Given the description of an element on the screen output the (x, y) to click on. 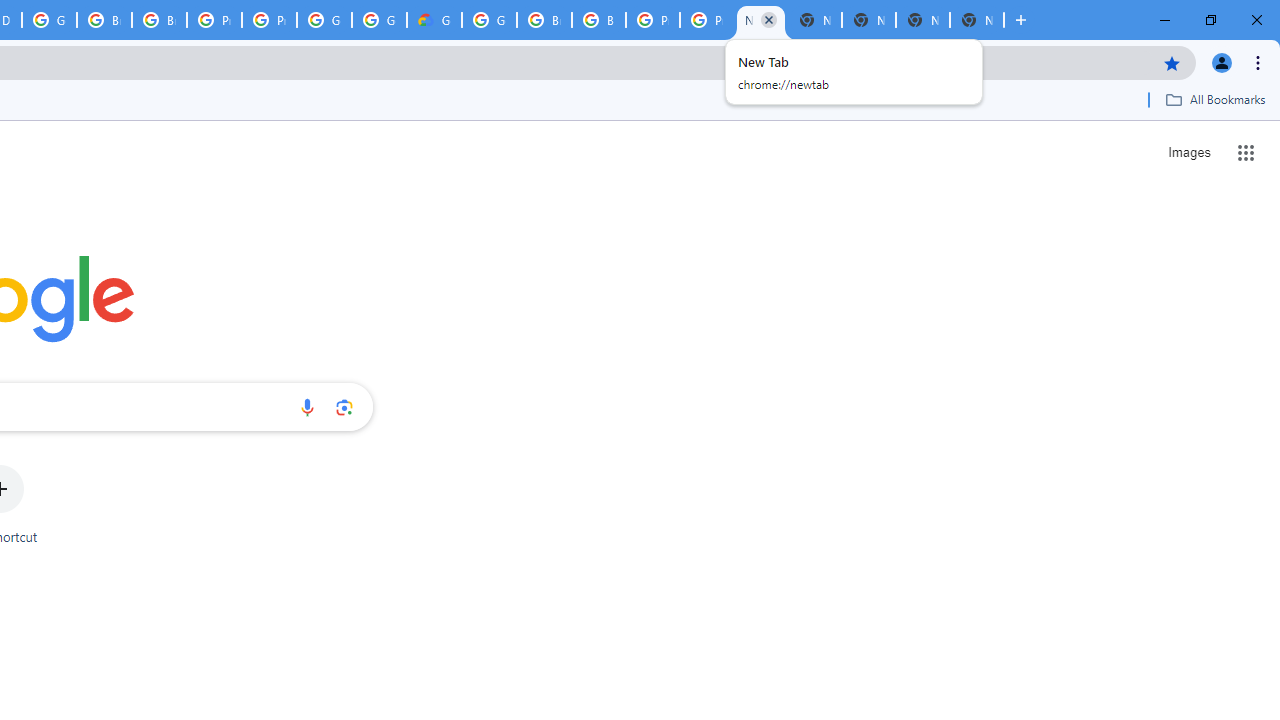
Google Cloud Platform (324, 20)
New Tab (976, 20)
New Tab (815, 20)
Google Cloud Platform (48, 20)
Browse Chrome as a guest - Computer - Google Chrome Help (544, 20)
Browse Chrome as a guest - Computer - Google Chrome Help (103, 20)
Google Cloud Platform (489, 20)
